Given the description of an element on the screen output the (x, y) to click on. 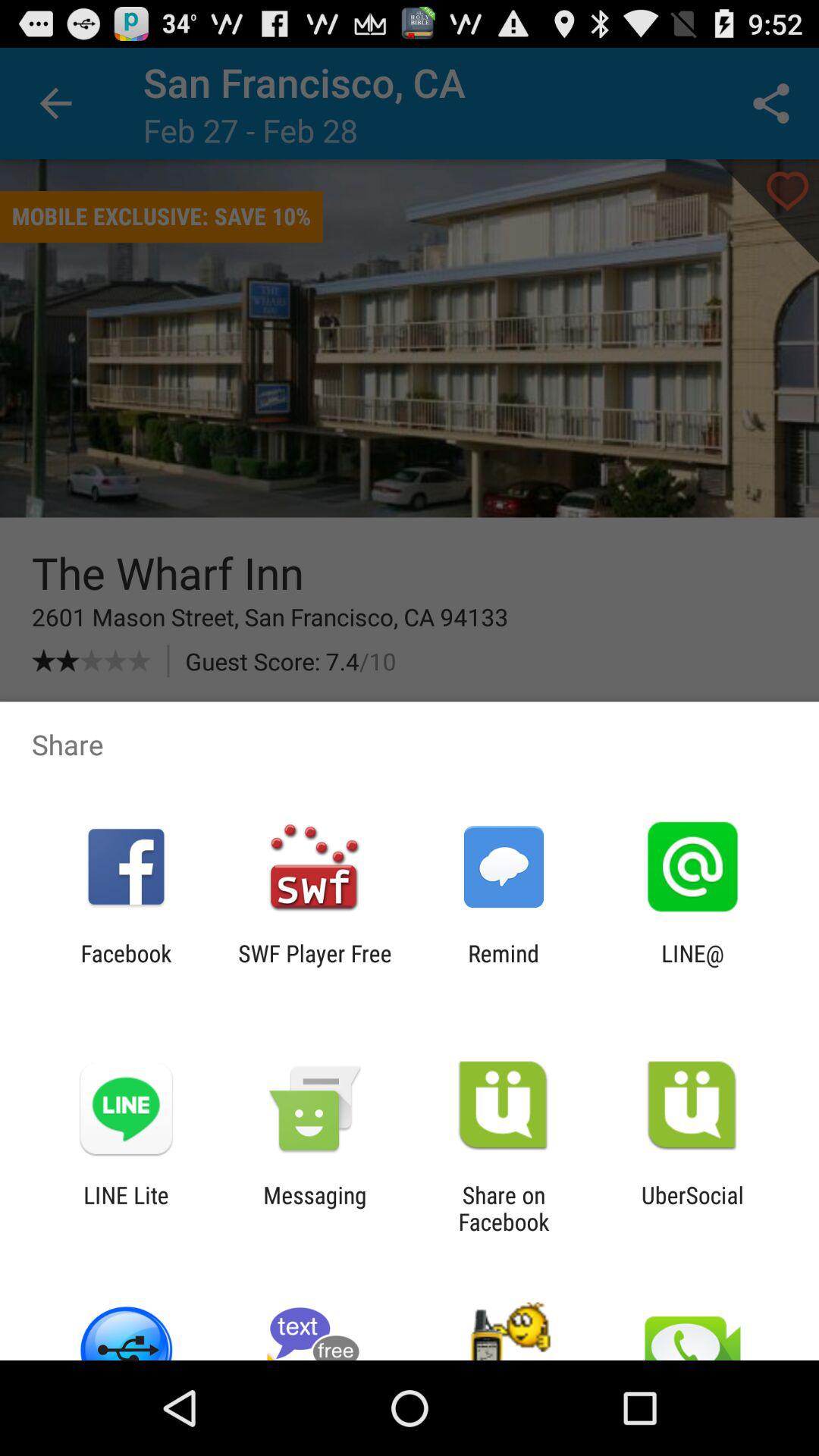
turn off the icon to the left of the remind item (314, 966)
